Given the description of an element on the screen output the (x, y) to click on. 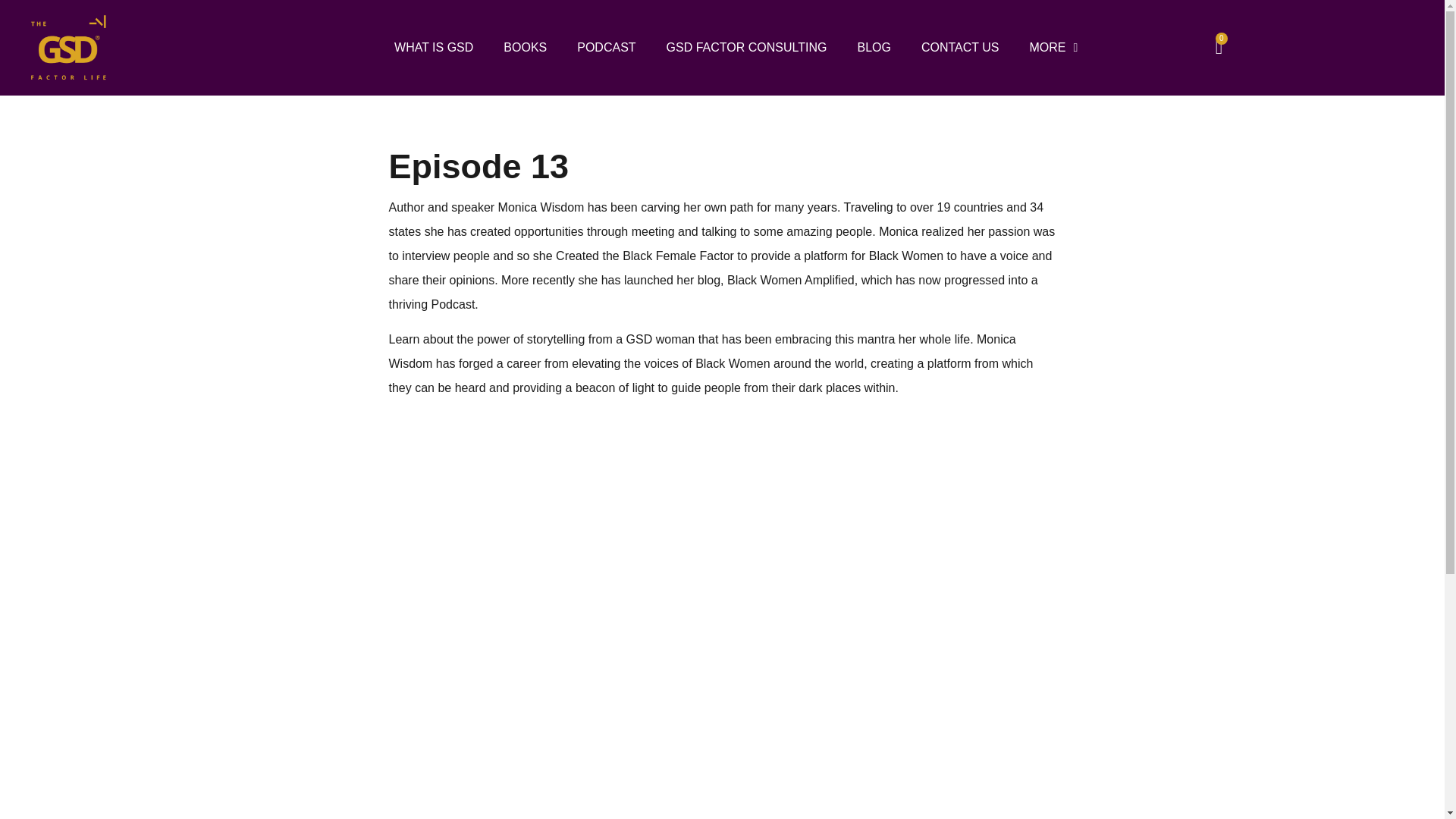
BOOKS (524, 48)
BLOG (873, 48)
WHAT IS GSD (432, 48)
GSD FACTOR CONSULTING (746, 48)
CONTACT US (959, 48)
PODCAST (606, 48)
MORE (1053, 48)
0 (1218, 47)
